Given the description of an element on the screen output the (x, y) to click on. 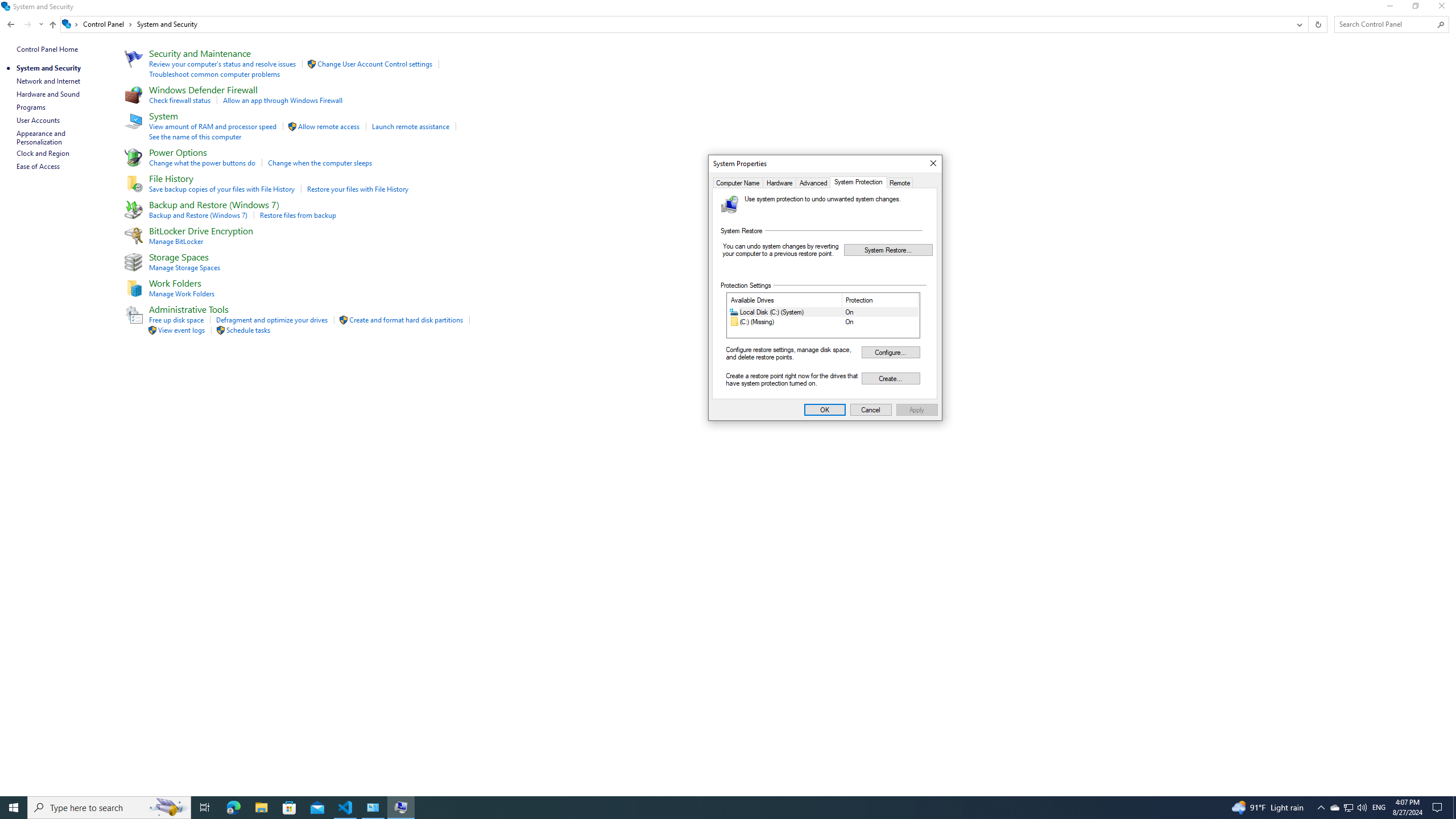
Close (932, 163)
Task View (204, 807)
System Remote Settings - 1 running window (1333, 807)
System Protection (400, 807)
User Promoted Notification Area (858, 182)
Running applications (1347, 807)
Remote (706, 807)
Local Disk (C:) (System) (900, 182)
System Restore... (823, 311)
OK (888, 249)
File Explorer (824, 409)
Q2790: 100% (261, 807)
